Given the description of an element on the screen output the (x, y) to click on. 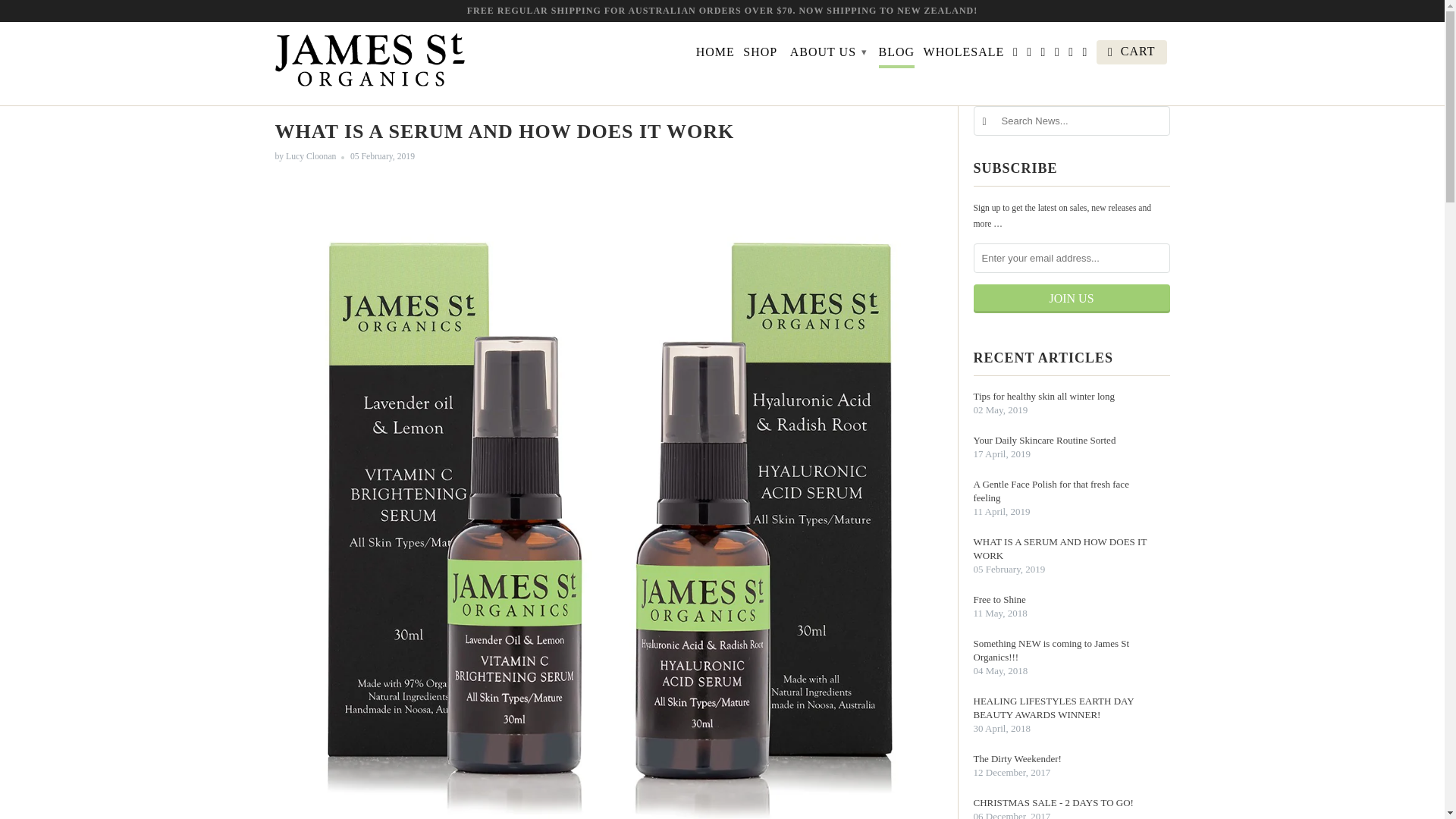
Join us (1072, 298)
James St Organics (369, 63)
WHOLESALE (963, 55)
HOME (715, 55)
SHOP (759, 55)
CART (1131, 52)
BLOG (897, 55)
